Given the description of an element on the screen output the (x, y) to click on. 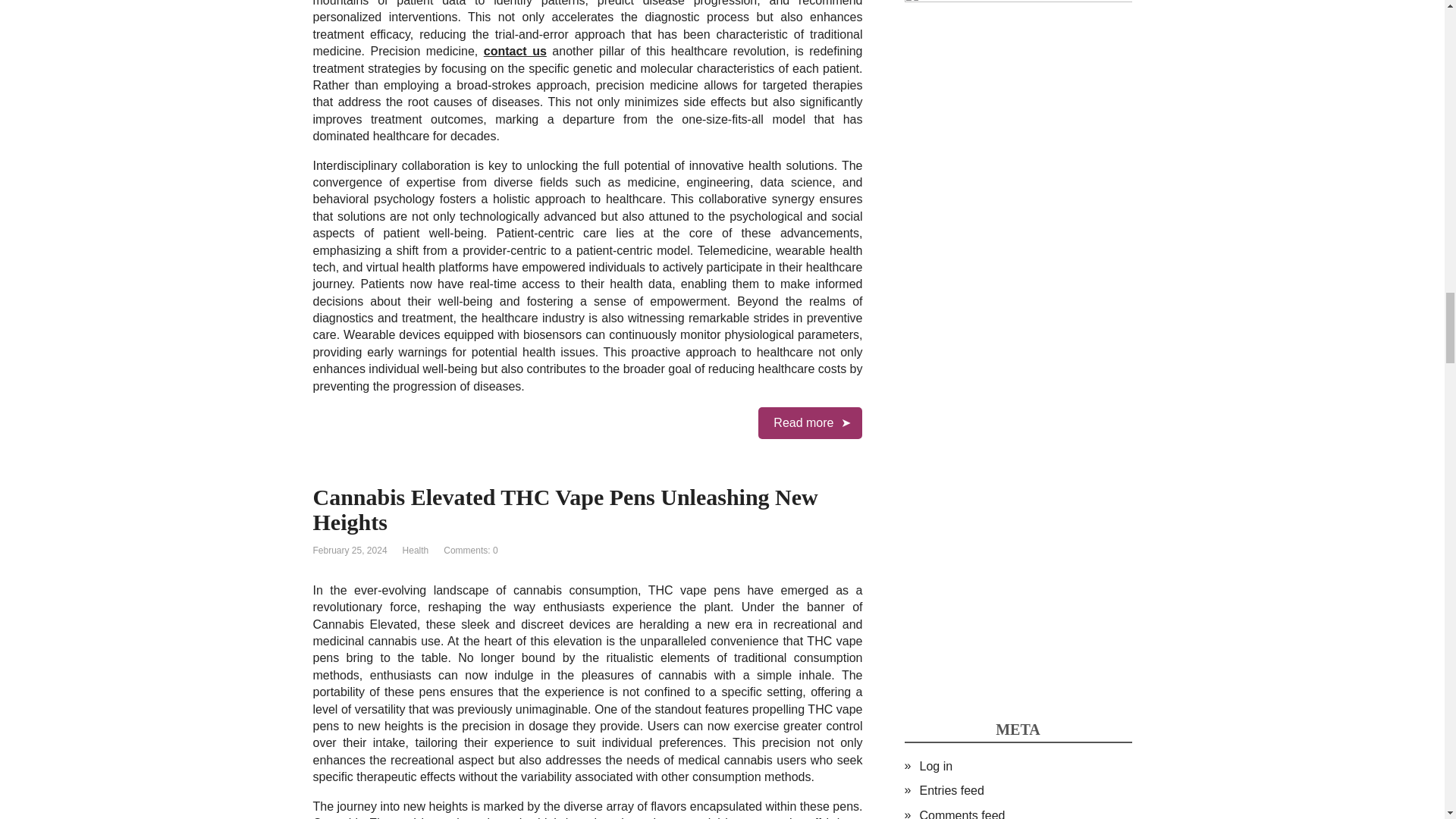
Innovative Health Solutions beyond Expectations (809, 422)
Cannabis Elevated THC Vape Pens Unleashing New Heights (564, 509)
contact us (515, 51)
Cannabis Elevated THC Vape Pens Unleashing New Heights (564, 509)
Read more (809, 422)
Comments: 0 (470, 550)
Health (416, 550)
